Given the description of an element on the screen output the (x, y) to click on. 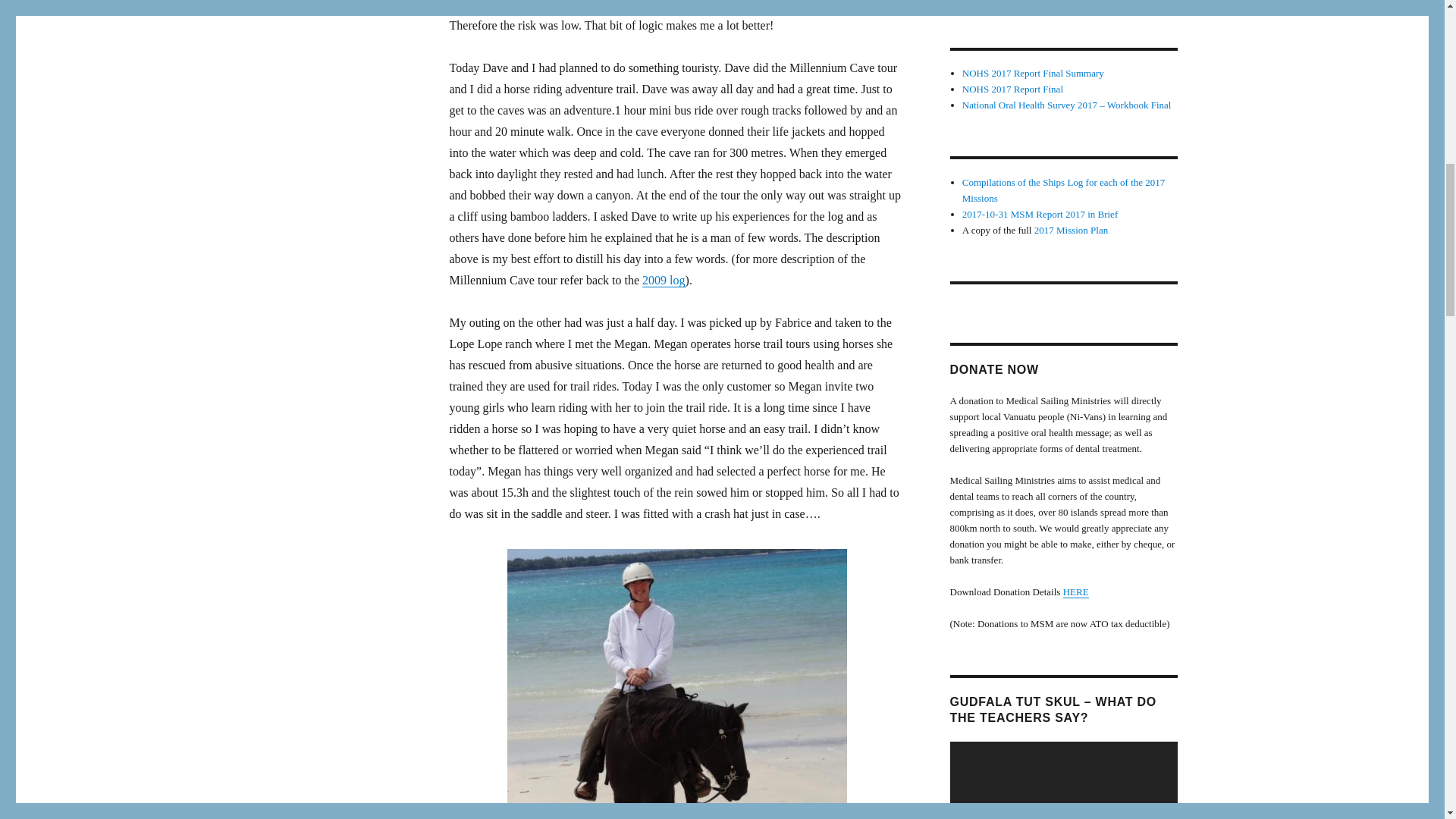
Canyons and cafe (663, 279)
